Given the description of an element on the screen output the (x, y) to click on. 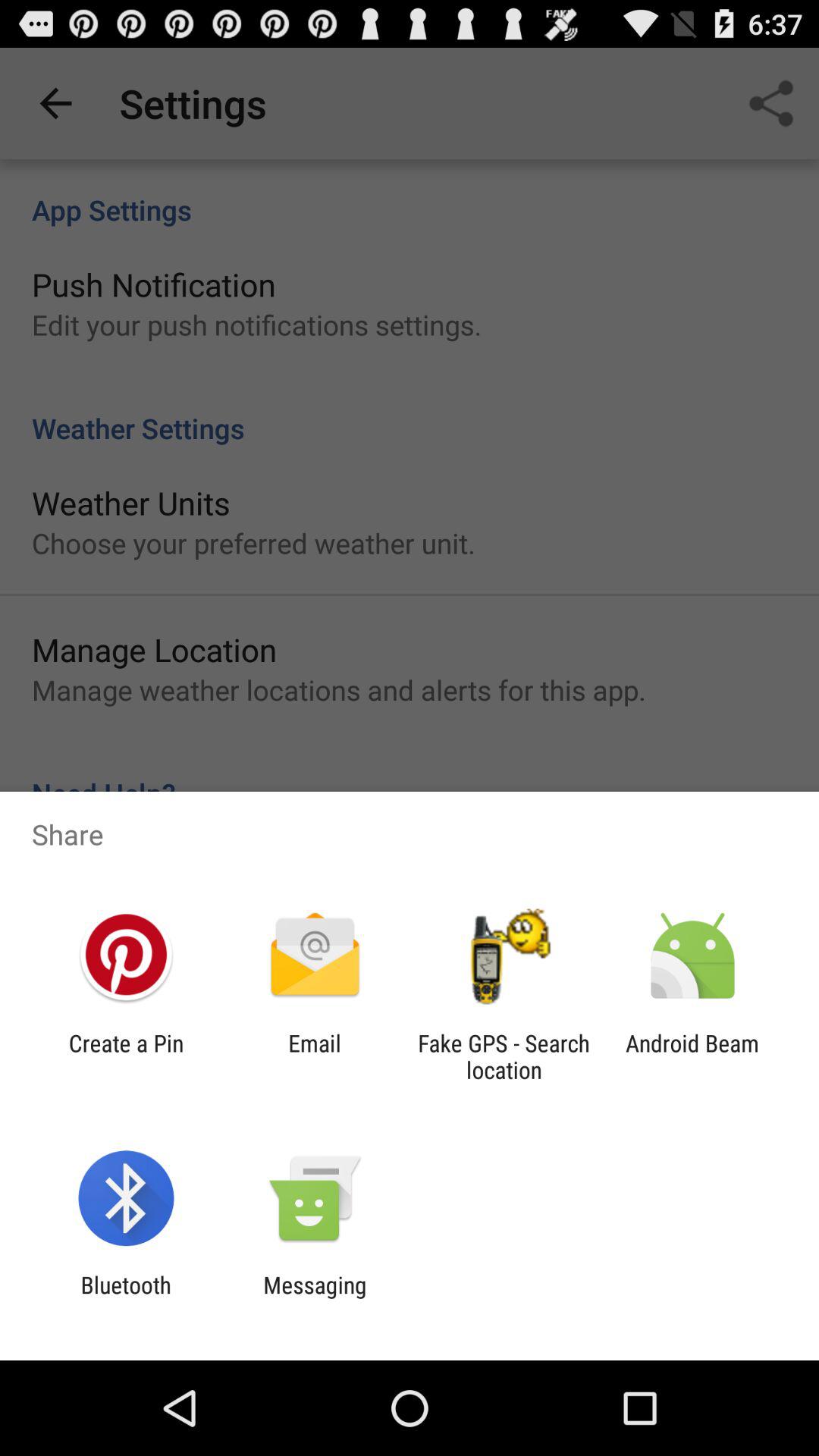
flip to bluetooth item (125, 1298)
